Given the description of an element on the screen output the (x, y) to click on. 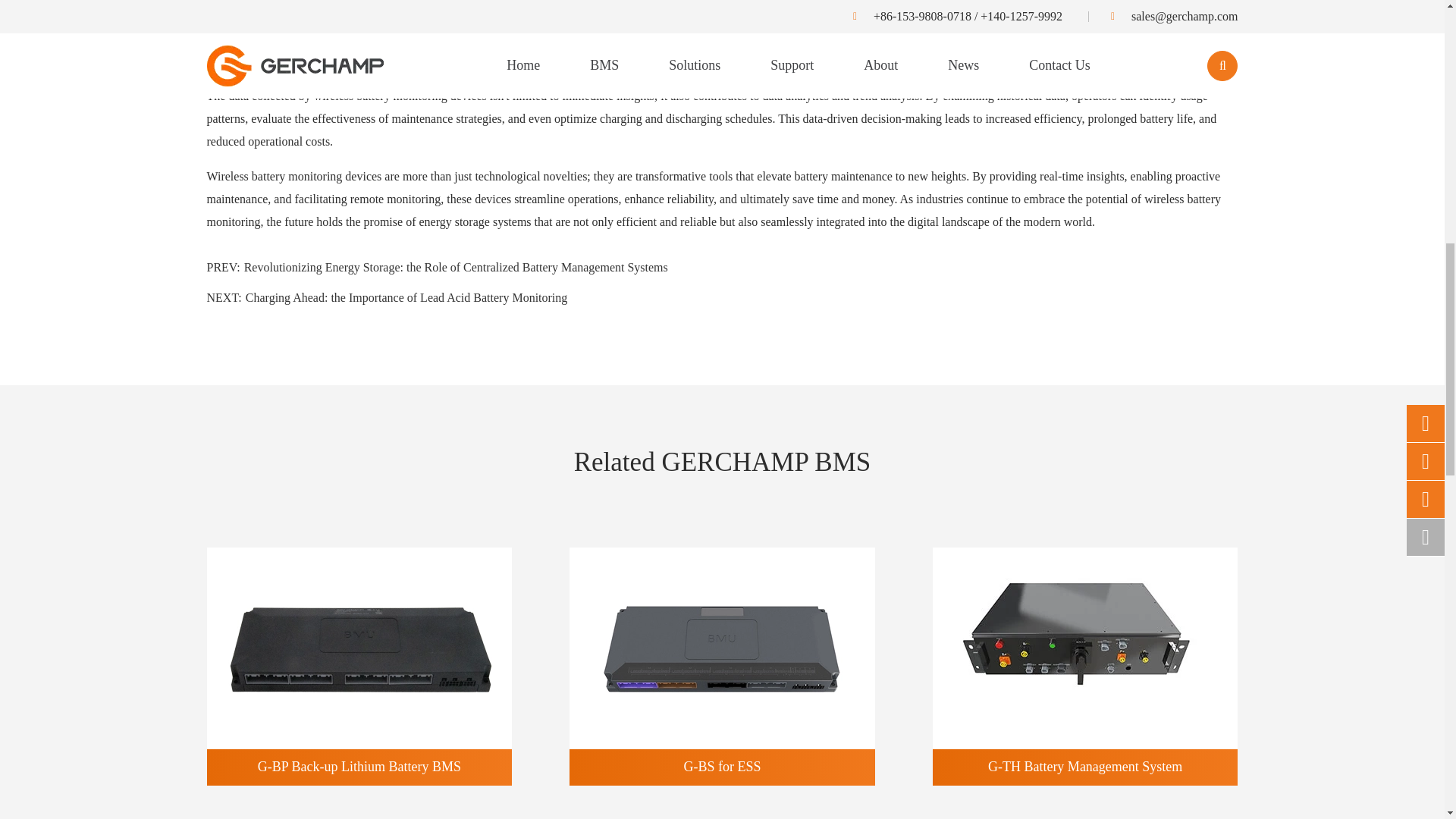
G-BP Back-up Lithium Battery BMS (359, 648)
G-TH Battery Management System (1085, 648)
G-BS for ESS (722, 648)
